Given the description of an element on the screen output the (x, y) to click on. 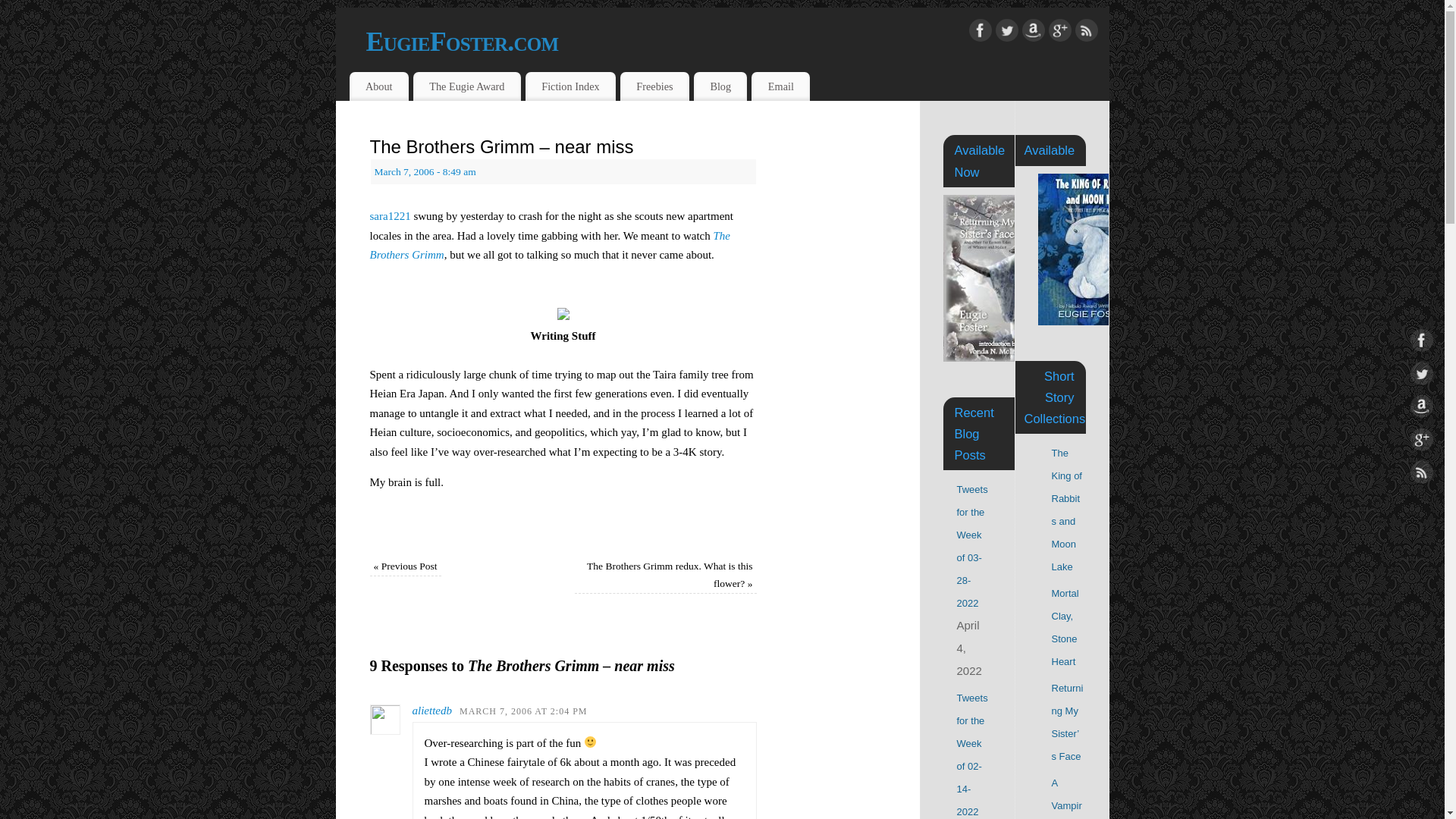
EugieFoster.com (736, 41)
About (378, 86)
MARCH 7, 2006 AT 2:04 PM (523, 710)
The Brothers Grimm (549, 245)
aliettedb (432, 710)
EugieFoster.com (736, 41)
Blog (720, 86)
March 7, 2006 - 8:49 am (425, 171)
Email (780, 86)
Fiction Index (570, 86)
